Given the description of an element on the screen output the (x, y) to click on. 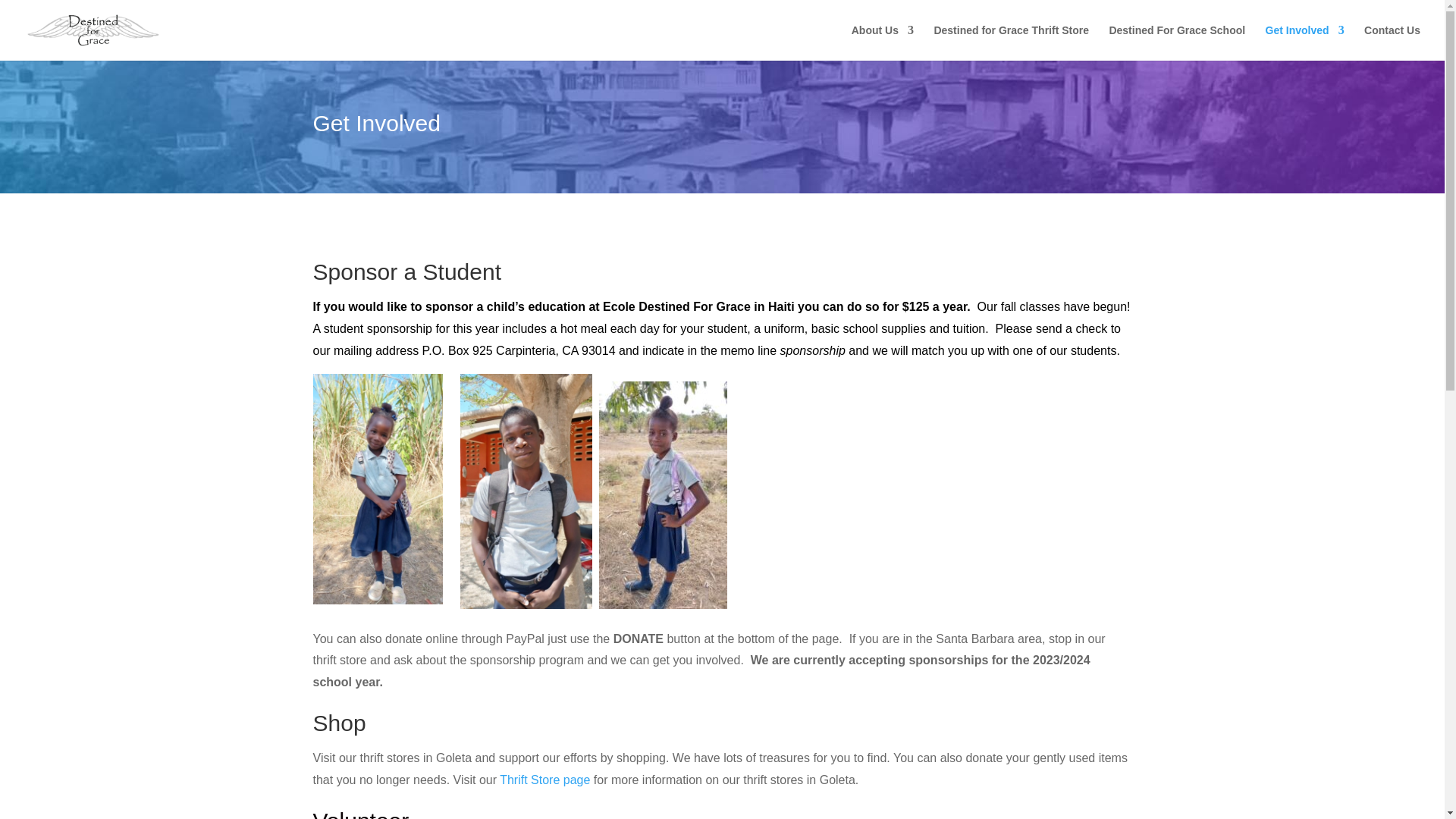
Destined For Grace School (1176, 42)
Contact Us (1392, 42)
Get Involved (1304, 42)
About Us (882, 42)
Thrift Store page (544, 779)
Destined for Grace Thrift Store (1011, 42)
